Given the description of an element on the screen output the (x, y) to click on. 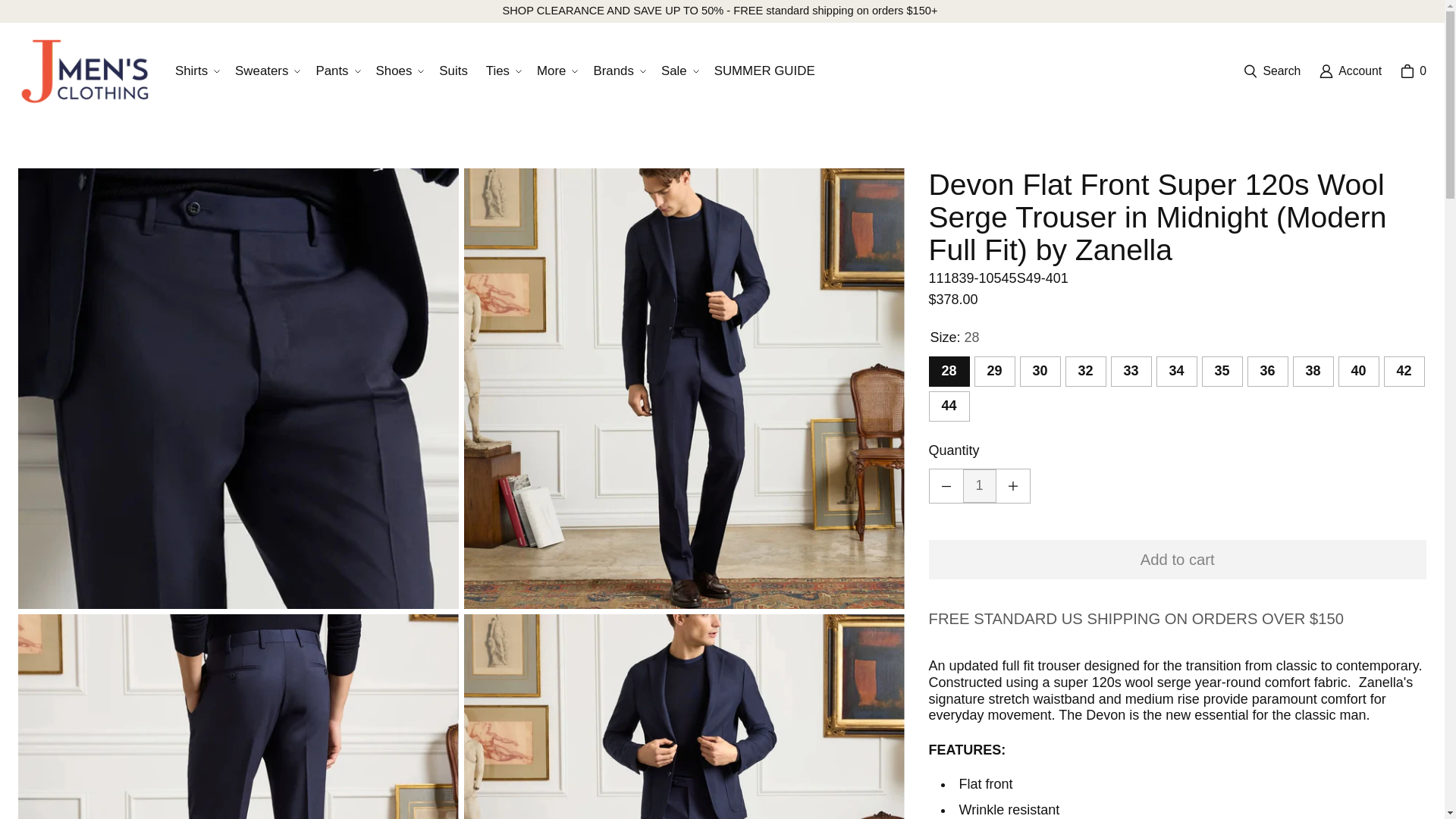
1 (978, 485)
Suits (452, 70)
